Given the description of an element on the screen output the (x, y) to click on. 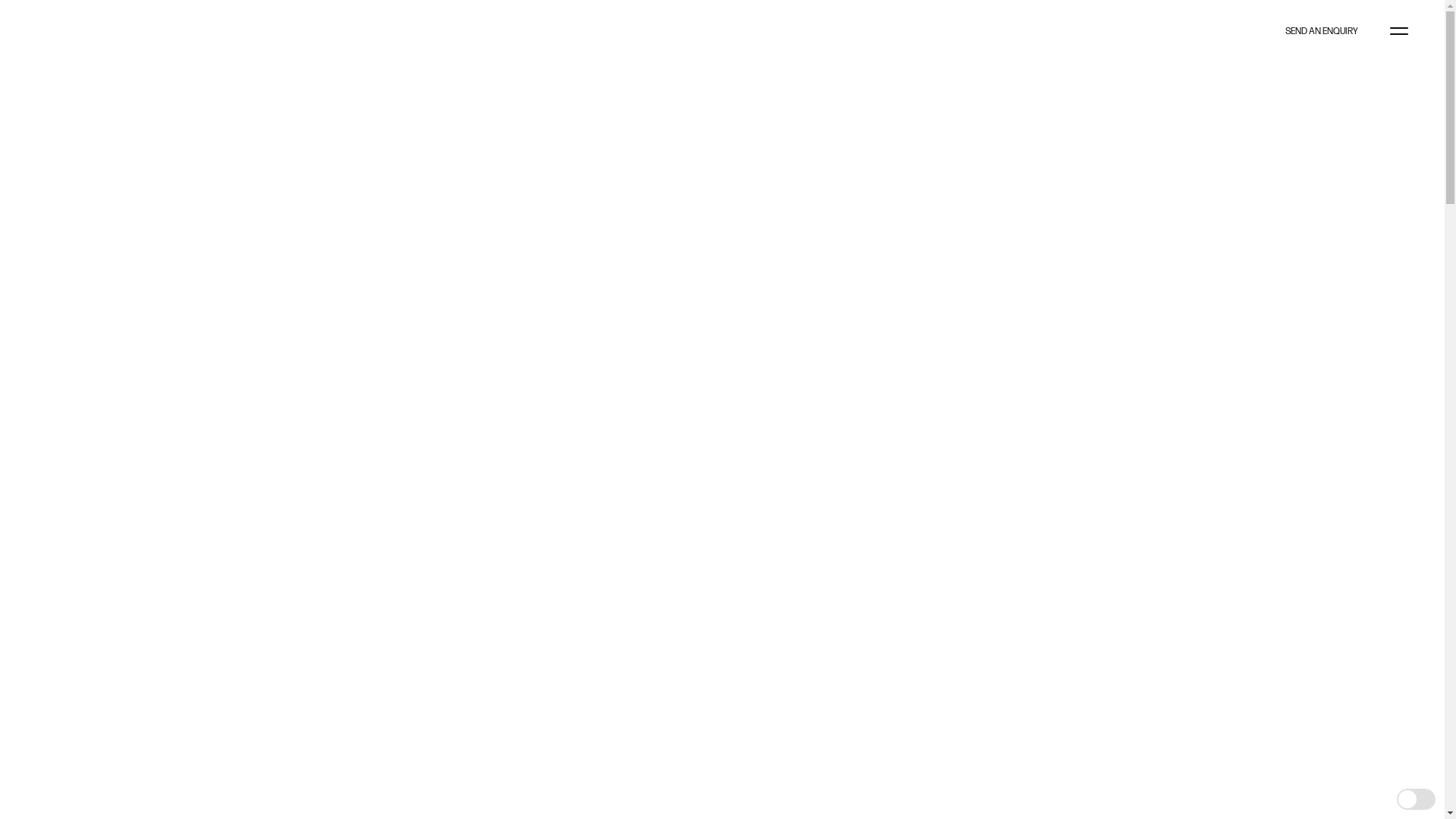
SEND AN ENQUIRY Element type: text (1321, 31)
